Given the description of an element on the screen output the (x, y) to click on. 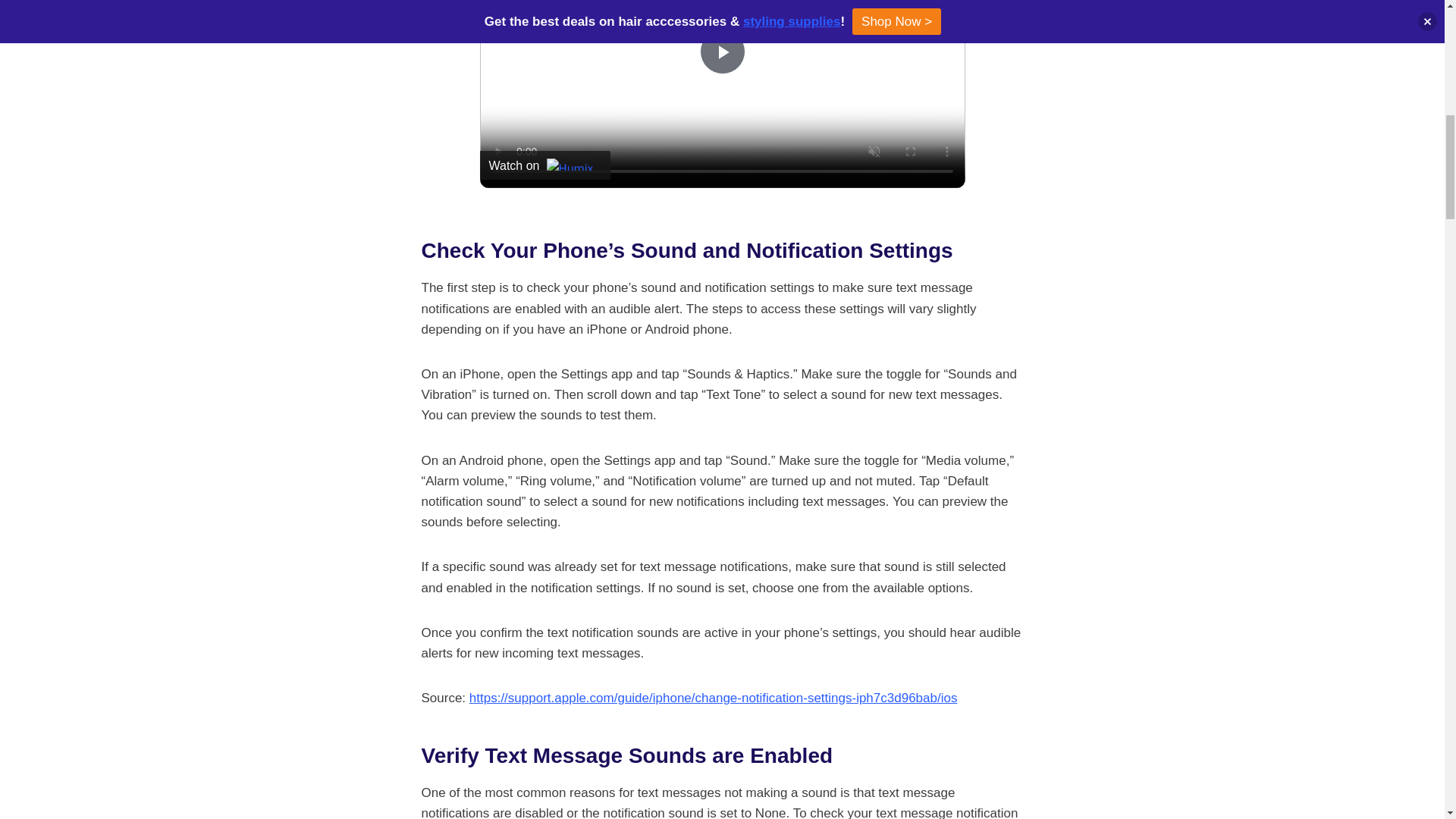
Watch on (544, 164)
Play Video (721, 51)
Play Video (721, 51)
